Given the description of an element on the screen output the (x, y) to click on. 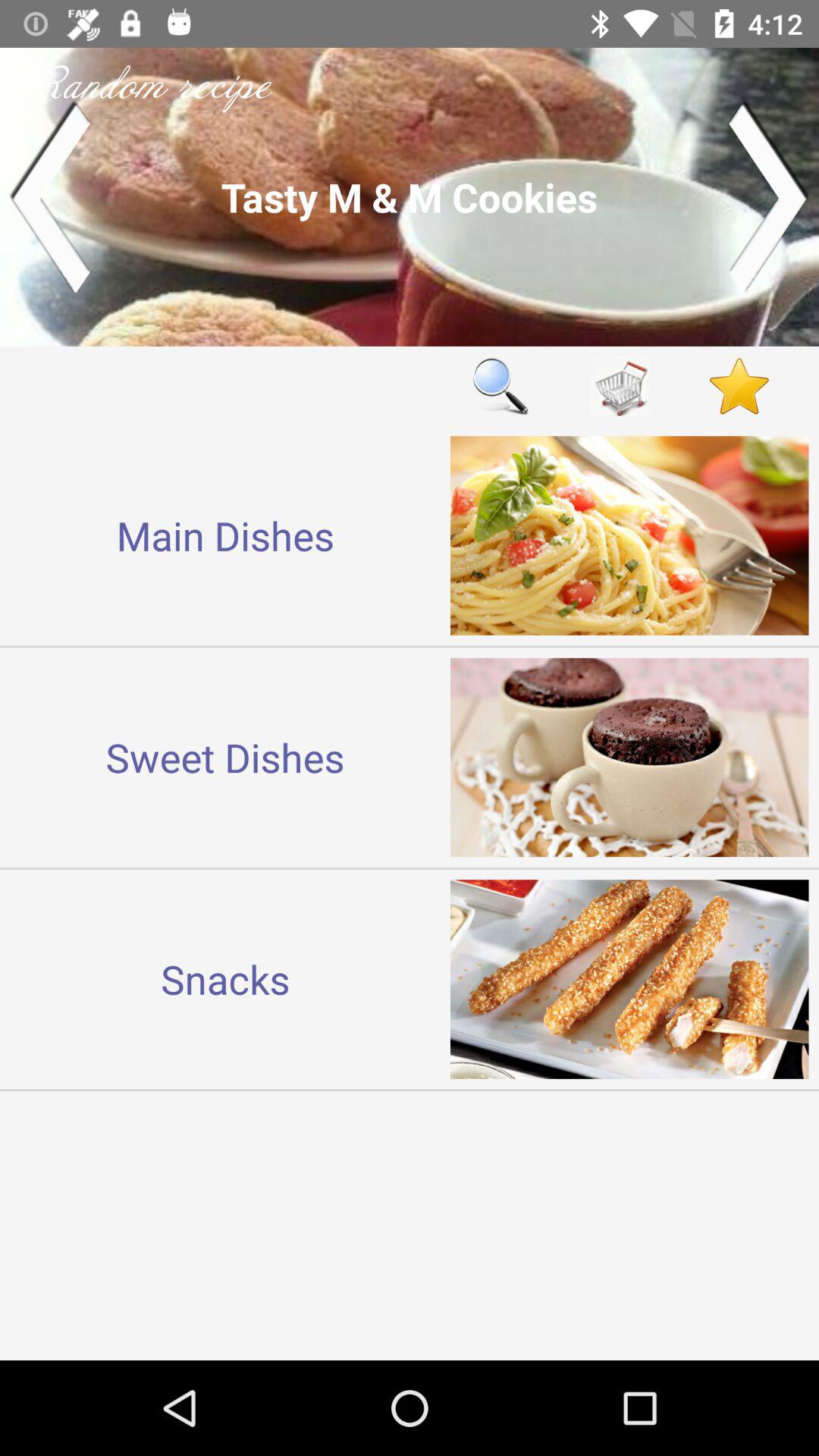
select the icon below main dishes item (225, 756)
